Given the description of an element on the screen output the (x, y) to click on. 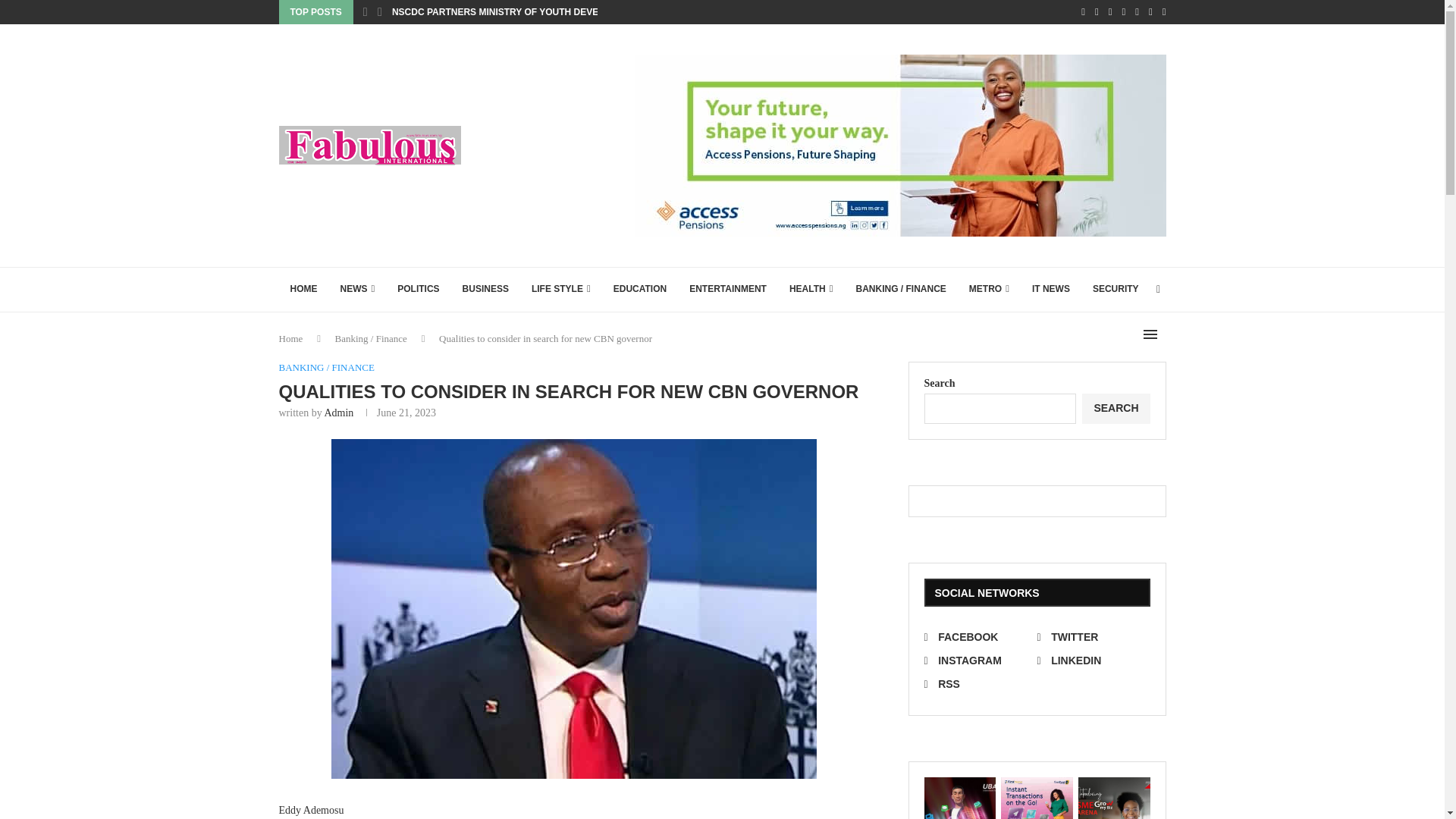
LIFE STYLE (560, 289)
NEWS (358, 289)
POLITICS (417, 289)
BUSINESS (485, 289)
HOME (304, 289)
